Given the description of an element on the screen output the (x, y) to click on. 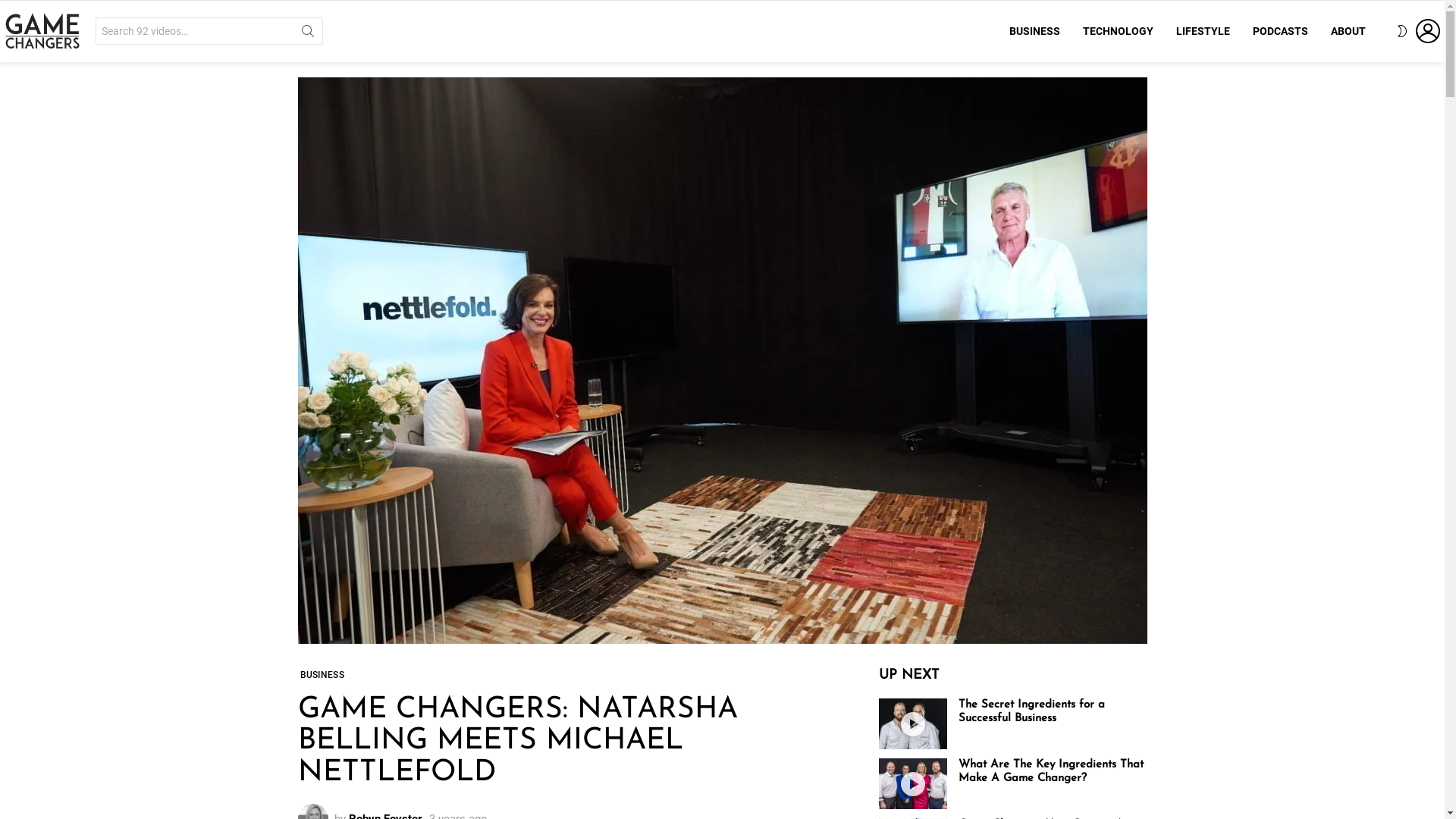
SEARCH Element type: text (307, 33)
The Secret Ingredients for a Successful Business Element type: text (1031, 711)
The Secret Ingredients for a Successful Business Element type: hover (912, 723)
PODCASTS Element type: text (1280, 30)
What Are The Key Ingredients That Make A Game Changer? Element type: text (1050, 771)
BUSINESS Element type: text (1034, 30)
TECHNOLOGY Element type: text (1117, 30)
ABOUT Element type: text (1347, 30)
SWITCH SKIN Element type: text (1402, 30)
What Are The Key Ingredients That Make A Game Changer? Element type: hover (912, 783)
LOGIN Element type: text (1427, 31)
LIFESTYLE Element type: text (1203, 30)
BUSINESS Element type: text (321, 674)
Search for: Element type: hover (209, 30)
